Given the description of an element on the screen output the (x, y) to click on. 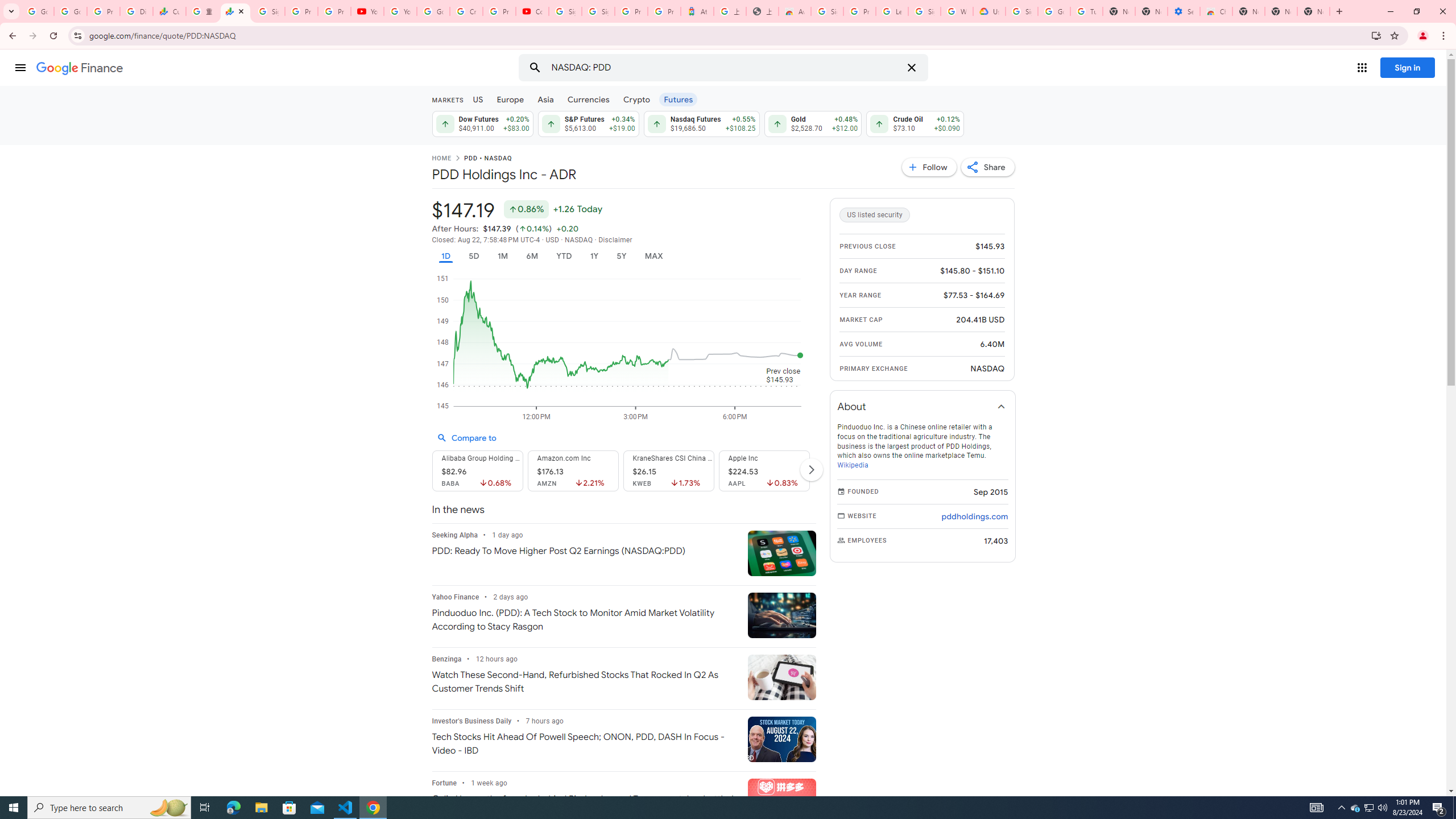
Awesome Screen Recorder & Screenshot - Chrome Web Store (794, 11)
HOME (440, 158)
Currencies - Google Finance (169, 11)
Minimize (1390, 11)
Search for stocks, ETFs & more (724, 67)
Sign in - Google Accounts (924, 11)
You (1422, 35)
Bookmark this tab (1393, 35)
S&P Futures $5,613.00 $5,612.25 Up by 0.34% +$19.00 +$18.25 (588, 123)
Disclaimer (614, 239)
Sign in - Google Accounts (1021, 11)
MAX (653, 255)
5D (473, 255)
1Y (594, 255)
Google Workspace Admin Community (37, 11)
